Given the description of an element on the screen output the (x, y) to click on. 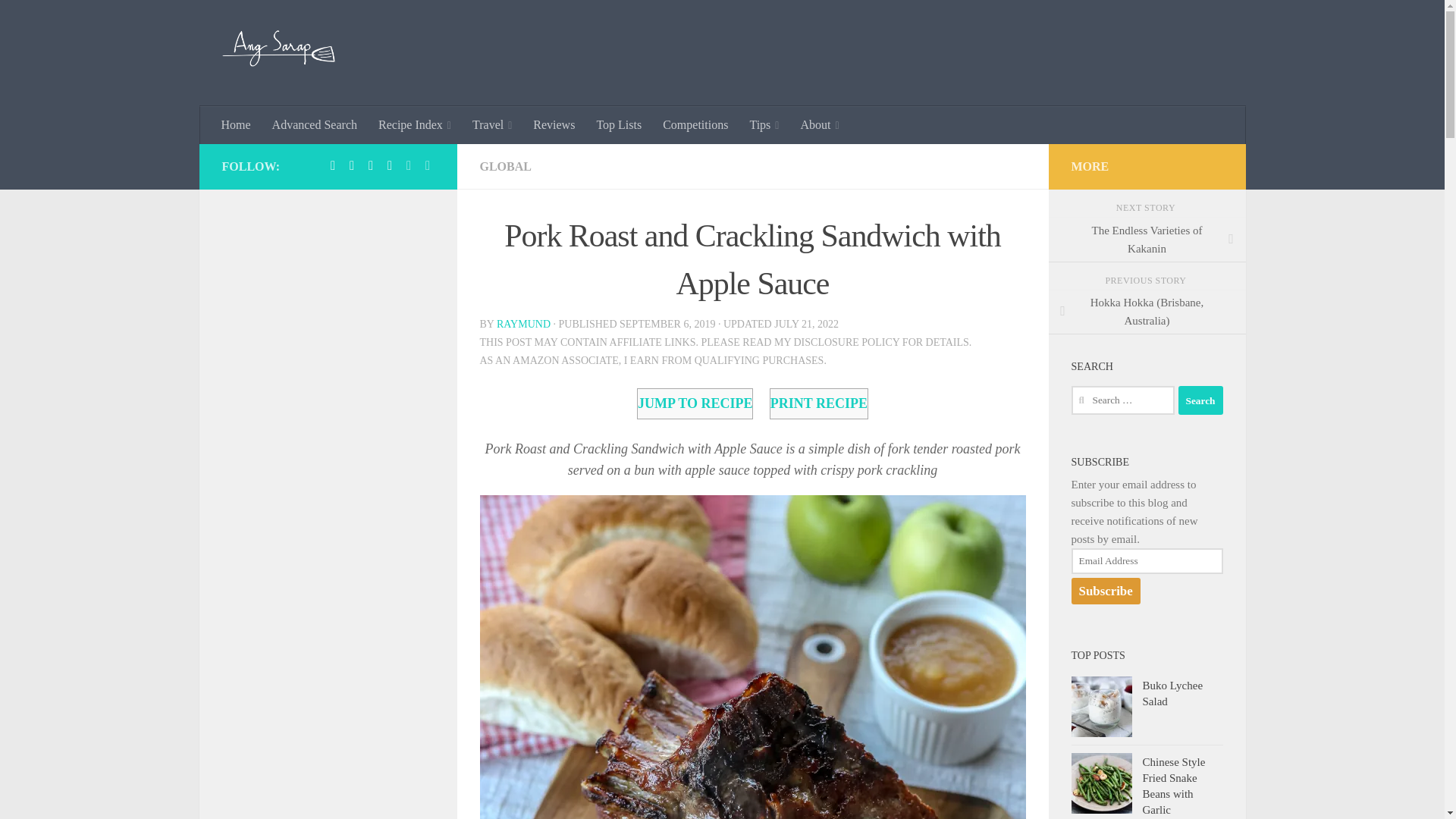
Instagram (390, 164)
Follow us on Twitter (407, 164)
Pinterest (352, 164)
Posts by Raymund (523, 324)
Home (236, 125)
Tumblr (370, 164)
Skip to content (59, 20)
Follow us on Youtube (427, 164)
Advanced Search (315, 125)
JUMP TO RECIPE (694, 403)
Facebook (332, 164)
Recipe Index (414, 125)
Search (1200, 399)
